Given the description of an element on the screen output the (x, y) to click on. 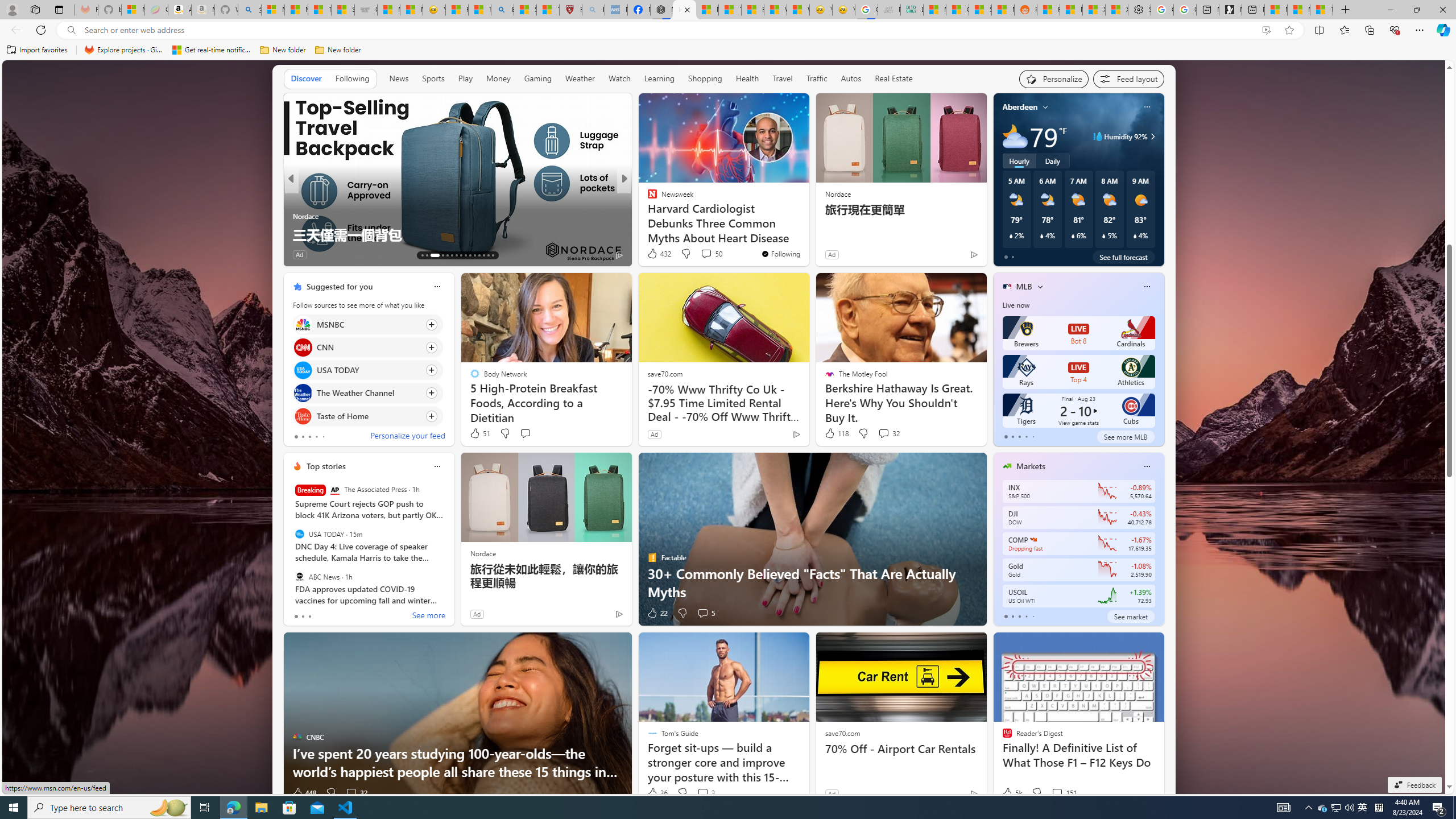
eBaum's World (647, 197)
Personalize your feed (407, 436)
AutomationID: tab-69 (439, 255)
View comments 50 Comment (710, 253)
View comments 32 Comment (355, 792)
Sports (432, 79)
View comments 151 Comment (1063, 792)
